Given the description of an element on the screen output the (x, y) to click on. 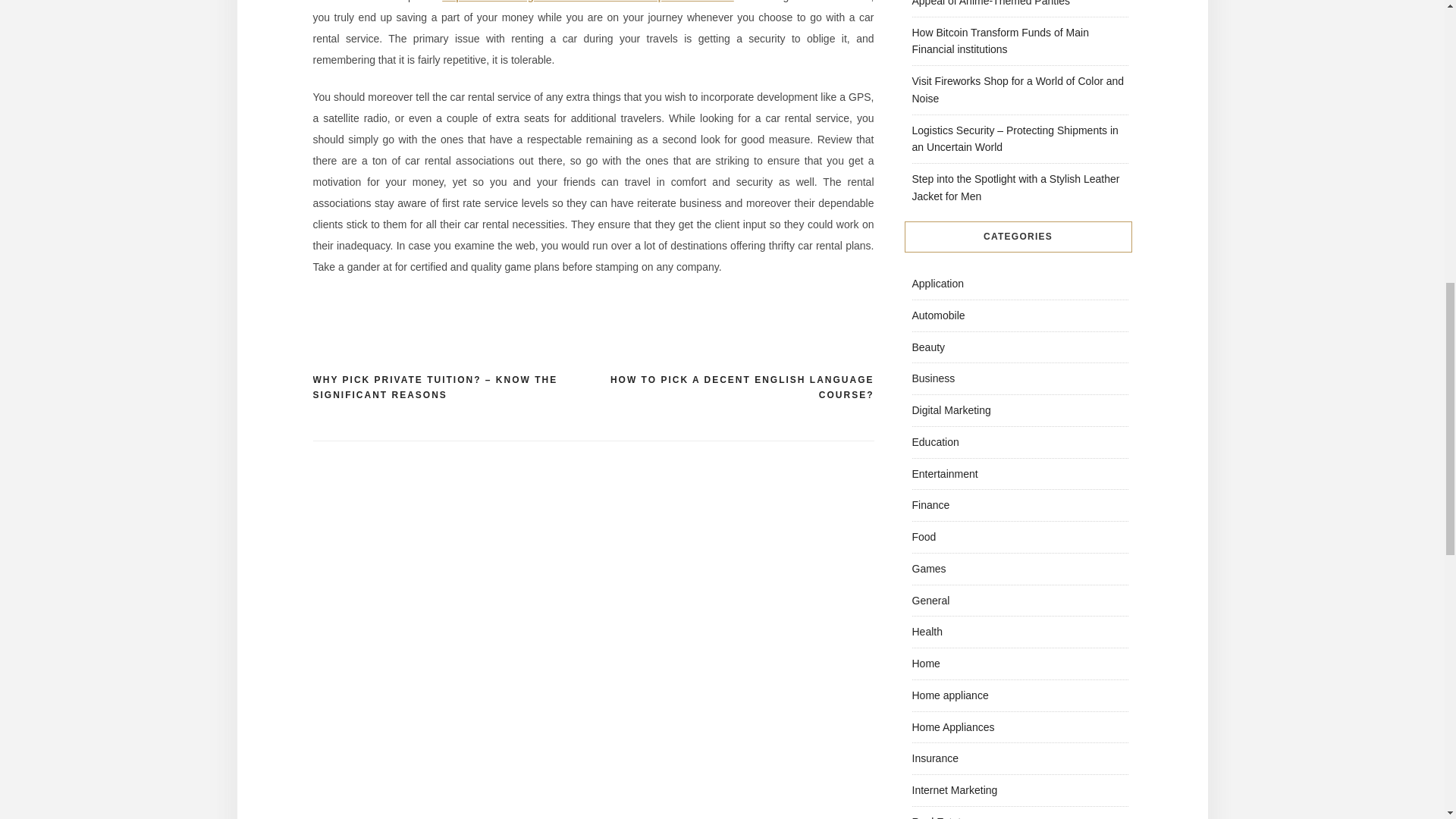
Internet Marketing (954, 789)
Health (926, 631)
Business (933, 378)
Games (927, 568)
Finance (930, 504)
Home Appliances (952, 726)
Food (923, 536)
General (930, 600)
How Bitcoin Transform Funds of Main Financial institutions (999, 40)
Insurance (934, 758)
Entertainment (943, 472)
HOW TO PICK A DECENT ENGLISH LANGUAGE COURSE? (732, 387)
Education (934, 441)
Automobile (937, 315)
